Given the description of an element on the screen output the (x, y) to click on. 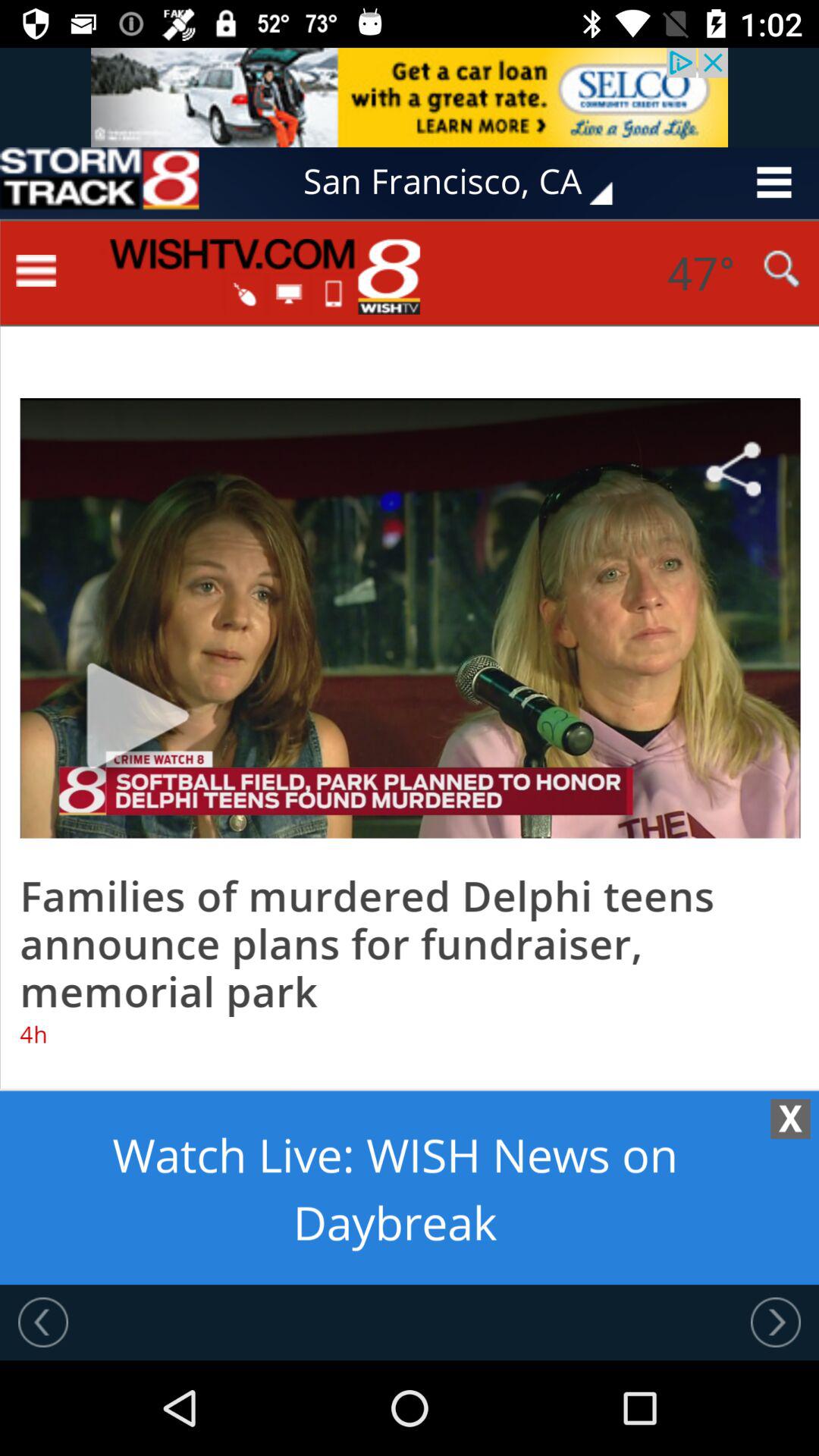
go back (43, 1322)
